Given the description of an element on the screen output the (x, y) to click on. 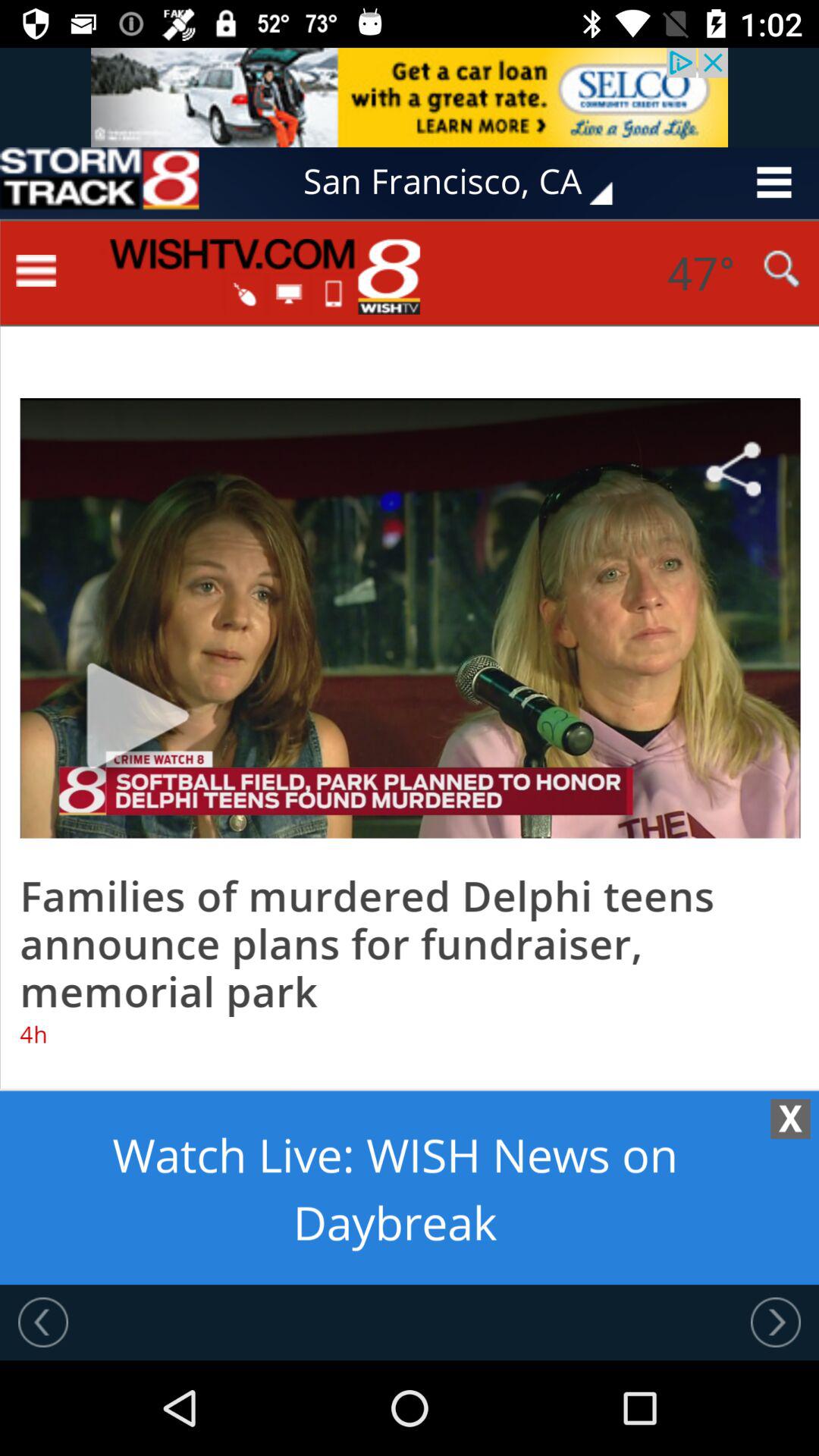
go back (43, 1322)
